Given the description of an element on the screen output the (x, y) to click on. 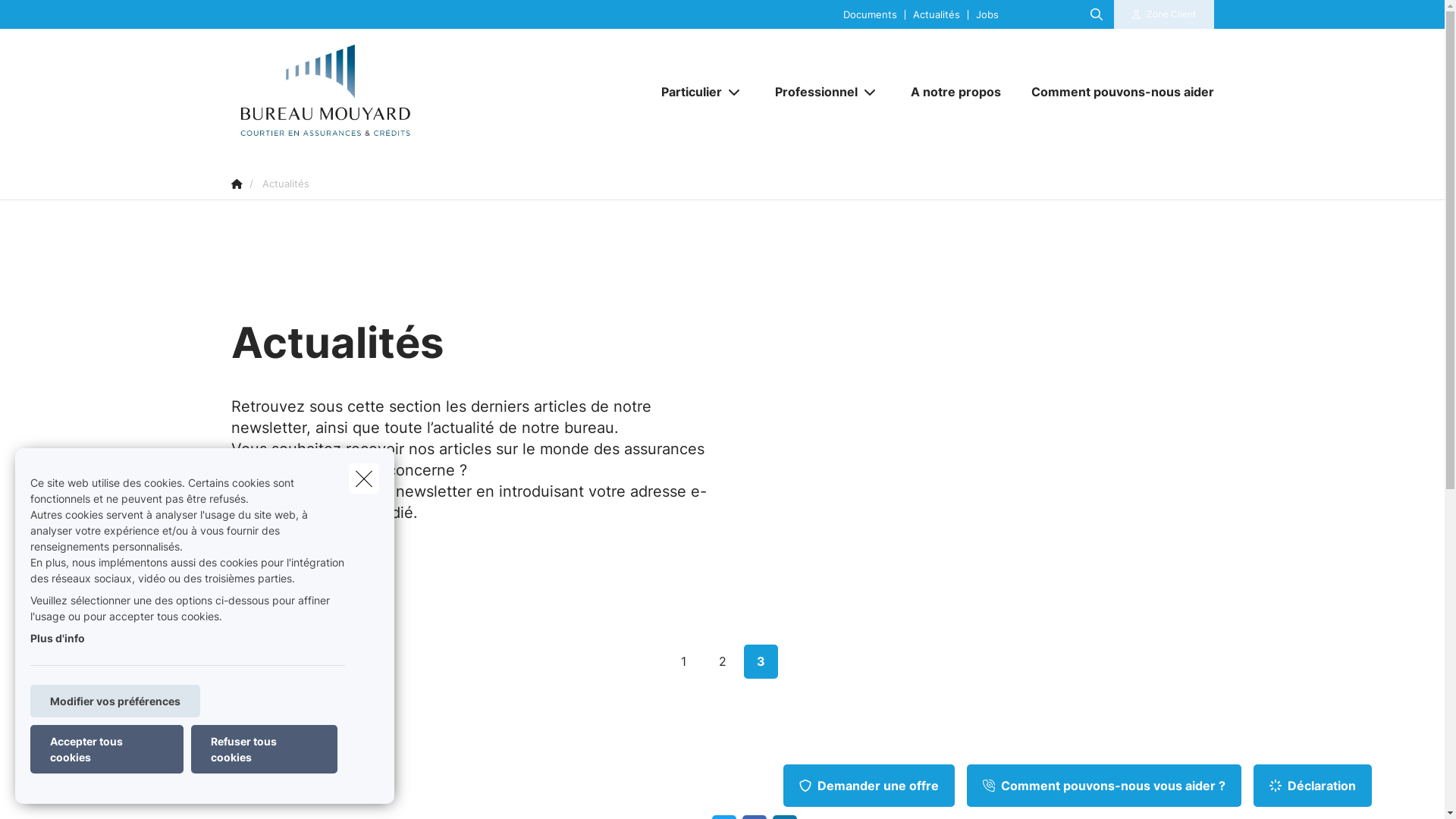
Page
2 Element type: text (722, 661)
Rechercher Element type: text (54, 18)
Documents Element type: text (869, 13)
Particulier Element type: text (685, 91)
Accepter tous cookies Element type: text (106, 748)
A notre propos Element type: text (954, 91)
Professionnel Element type: text (810, 91)
Page courante
3 Element type: text (760, 661)
Jobs Element type: text (986, 13)
Demander une offre Element type: text (868, 785)
Comment pouvons-nous vous aider ? Element type: text (1103, 785)
Page
1 Element type: text (683, 661)
Comment pouvons-nous aider Element type: text (1115, 91)
Zone Client Element type: text (1163, 14)
Plus d'info Element type: text (57, 637)
Refuser tous cookies Element type: text (264, 748)
